Given the description of an element on the screen output the (x, y) to click on. 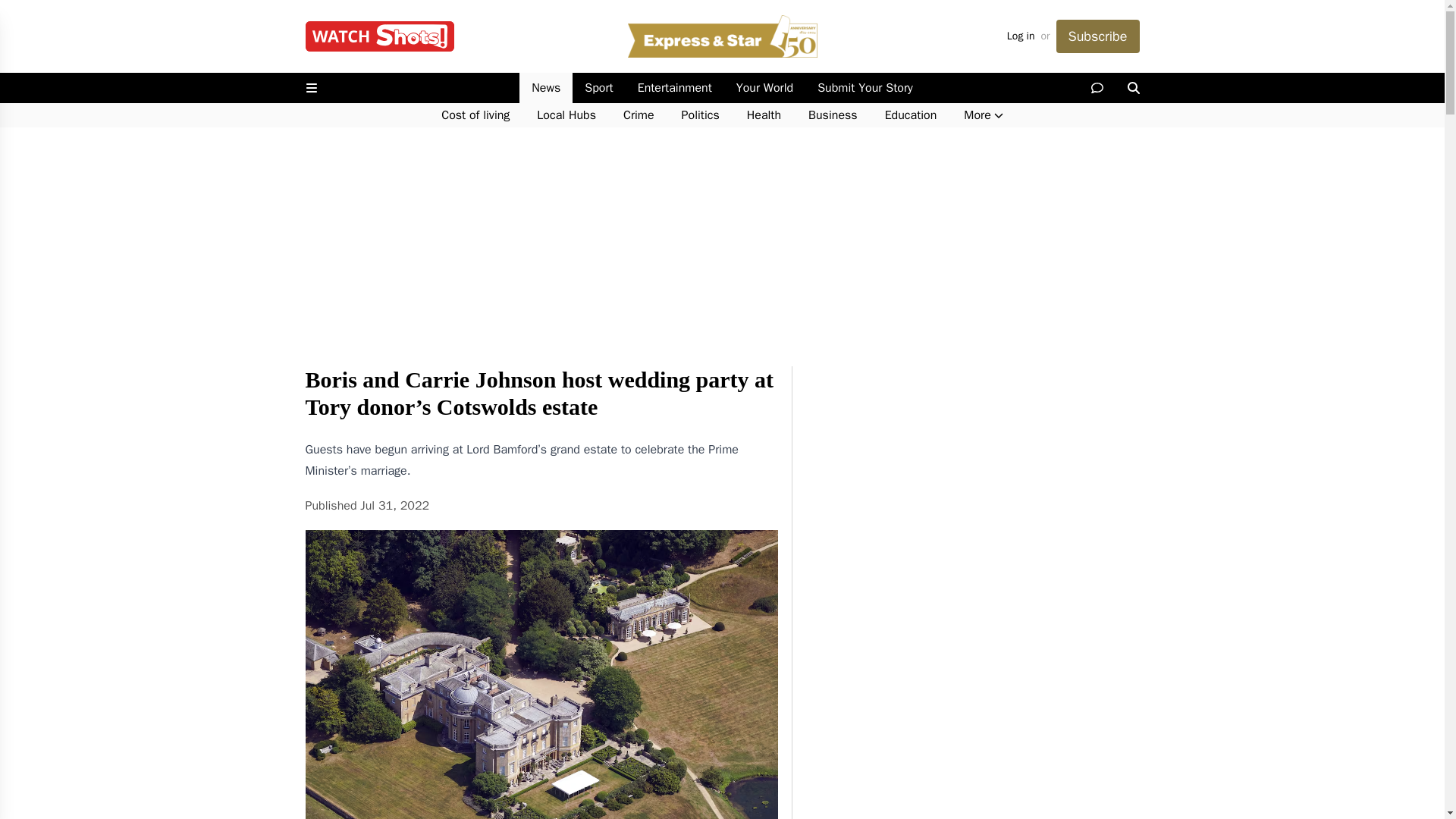
Cost of living (475, 115)
Sport (598, 87)
Business (832, 115)
More (983, 115)
Subscribe (1096, 36)
Health (764, 115)
Entertainment (674, 87)
Your World (764, 87)
Crime (638, 115)
Submit Your Story (864, 87)
